Given the description of an element on the screen output the (x, y) to click on. 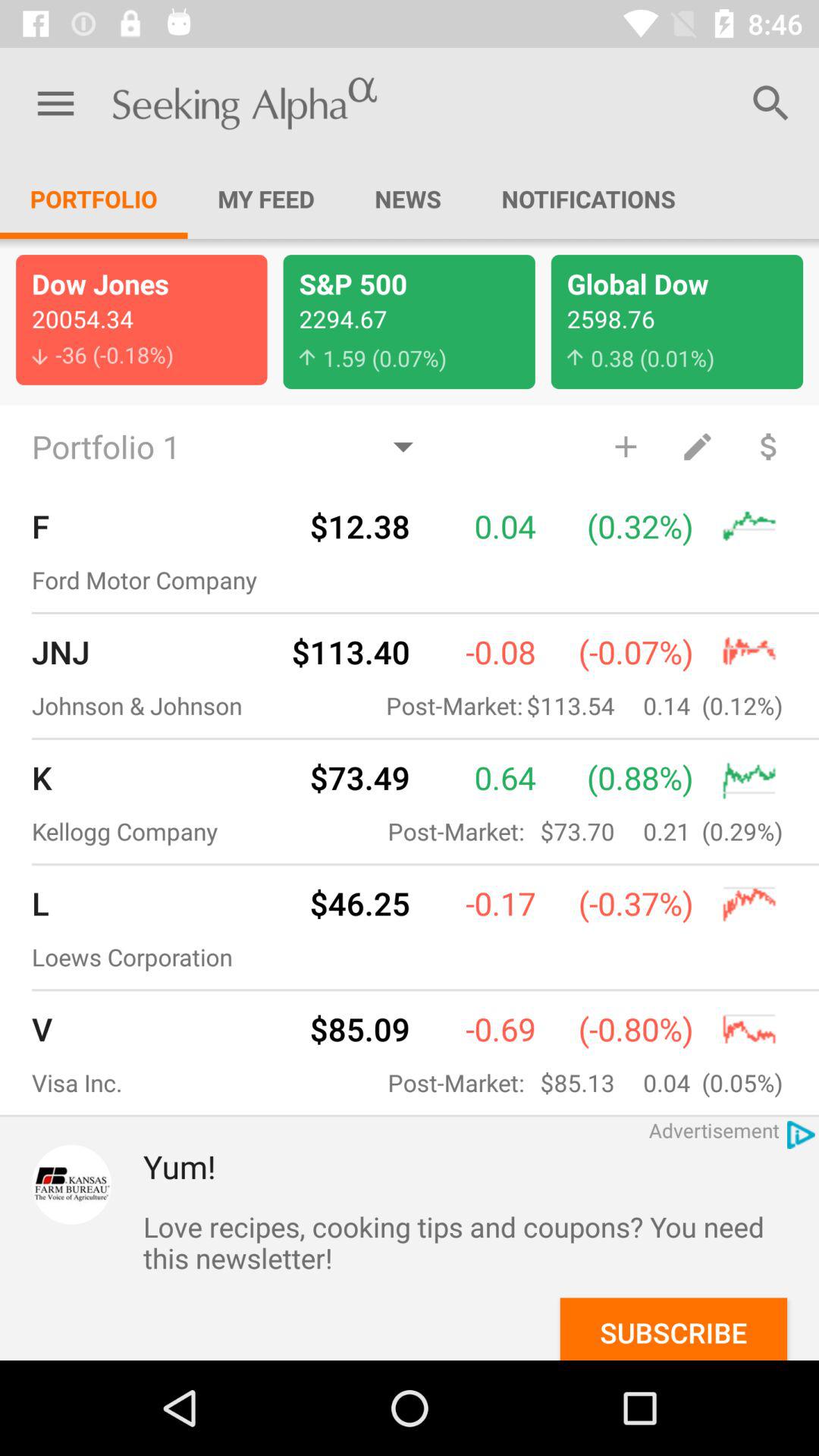
select the item above the (0.32%) item (625, 446)
